Given the description of an element on the screen output the (x, y) to click on. 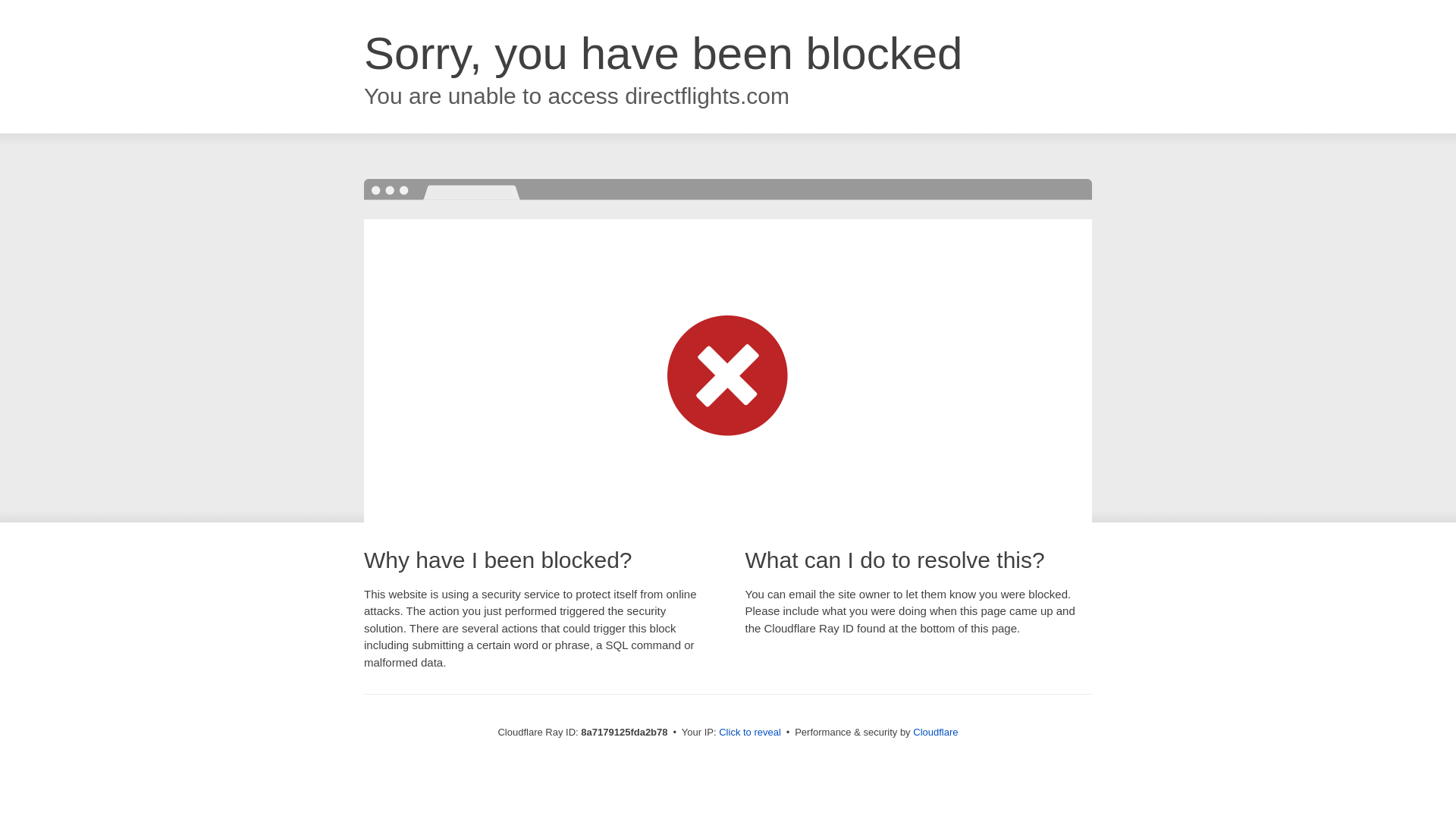
Cloudflare (935, 731)
Click to reveal (749, 732)
